Given the description of an element on the screen output the (x, y) to click on. 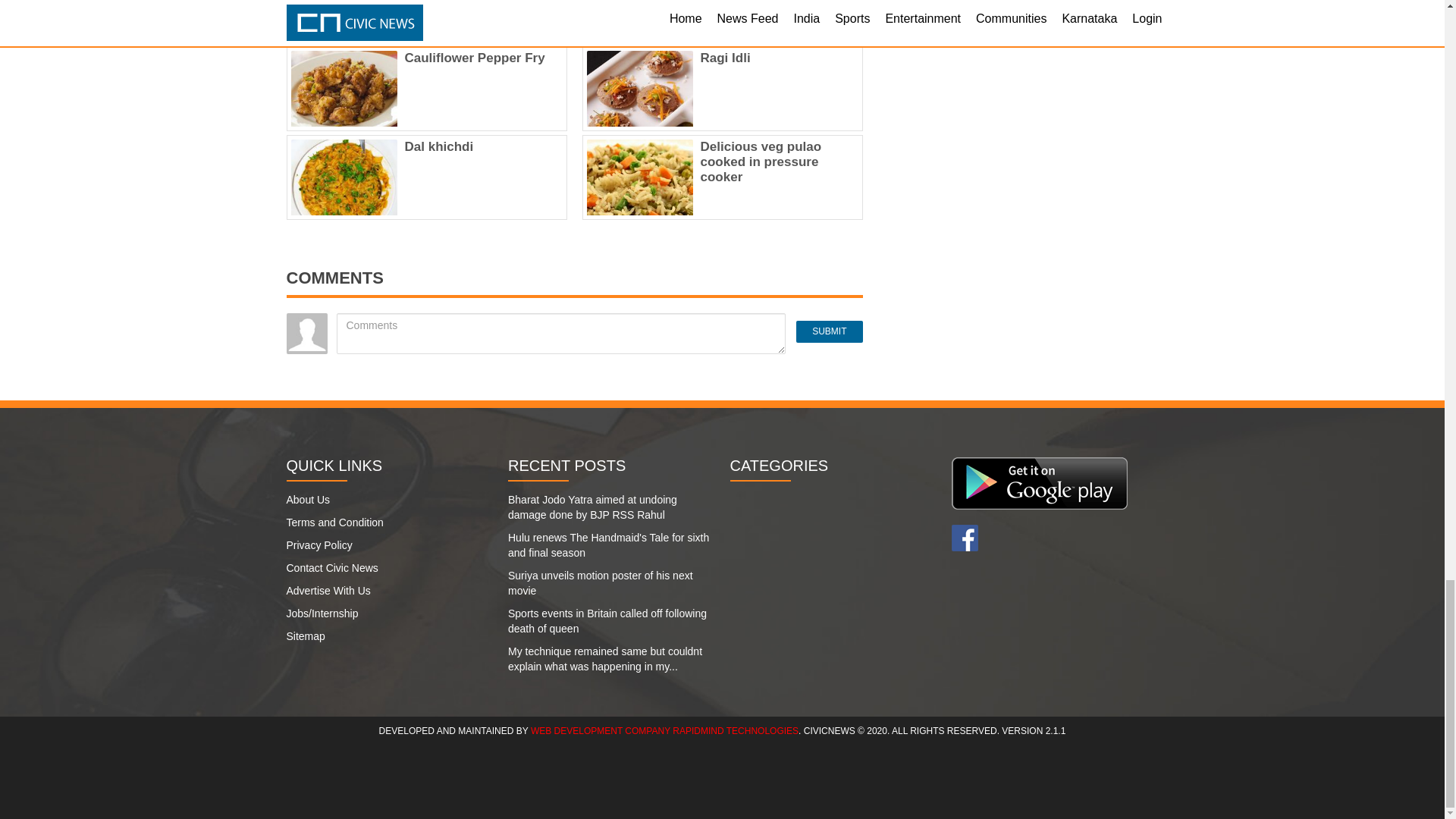
Dal khichdi (439, 146)
Delicious veg pulao cooked in pressure cooker (761, 161)
Reactjs, Gatsbyjs Web Development Company (664, 730)
Cauliflower Pepper Fry (474, 57)
Ragi Idli (725, 57)
